Given the description of an element on the screen output the (x, y) to click on. 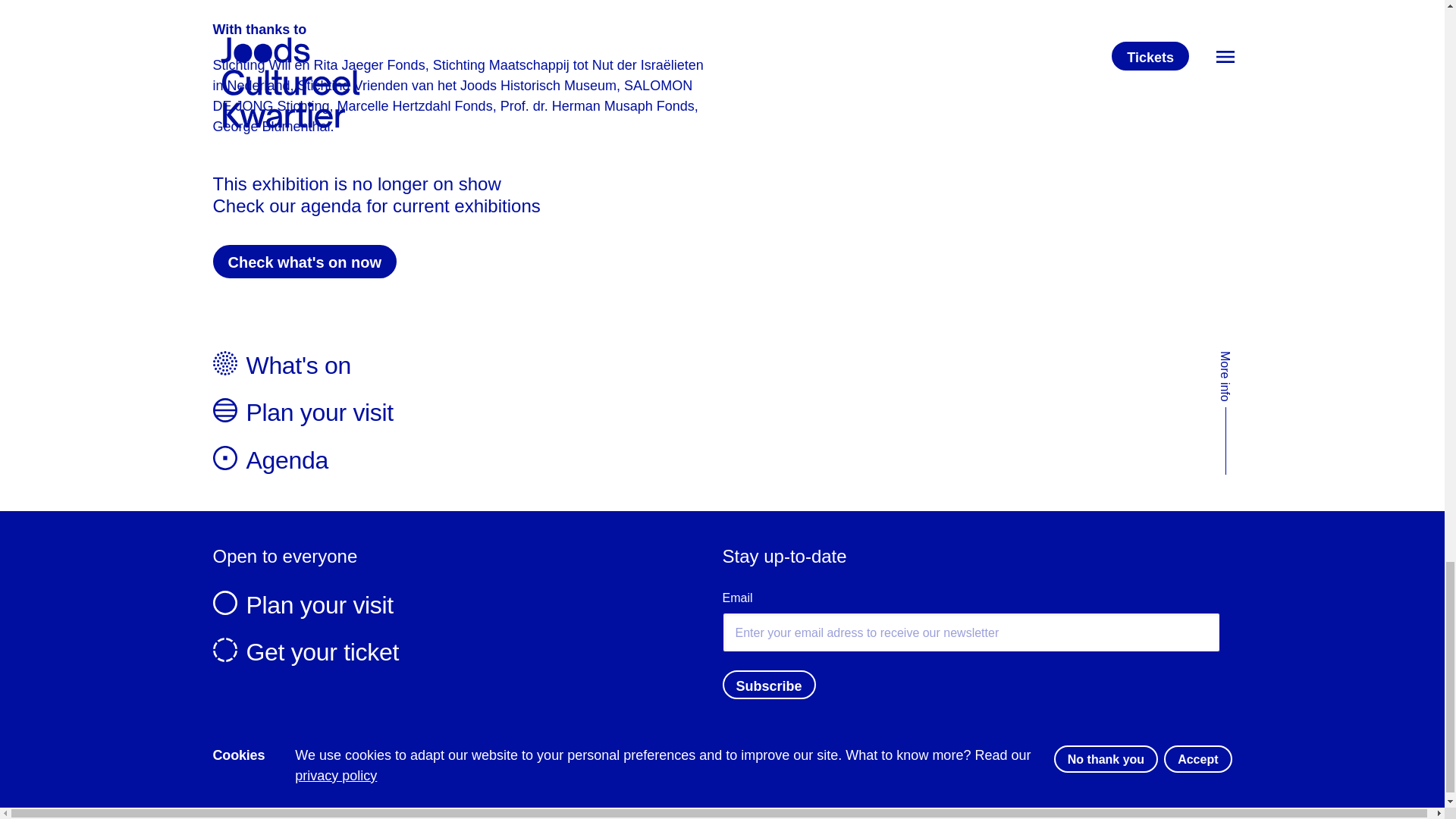
Subscribe (768, 684)
Plan your visit (716, 412)
Agenda (716, 460)
Check what's on now (304, 261)
Get your ticket (467, 652)
Plan your visit (467, 604)
What's on (716, 365)
